Given the description of an element on the screen output the (x, y) to click on. 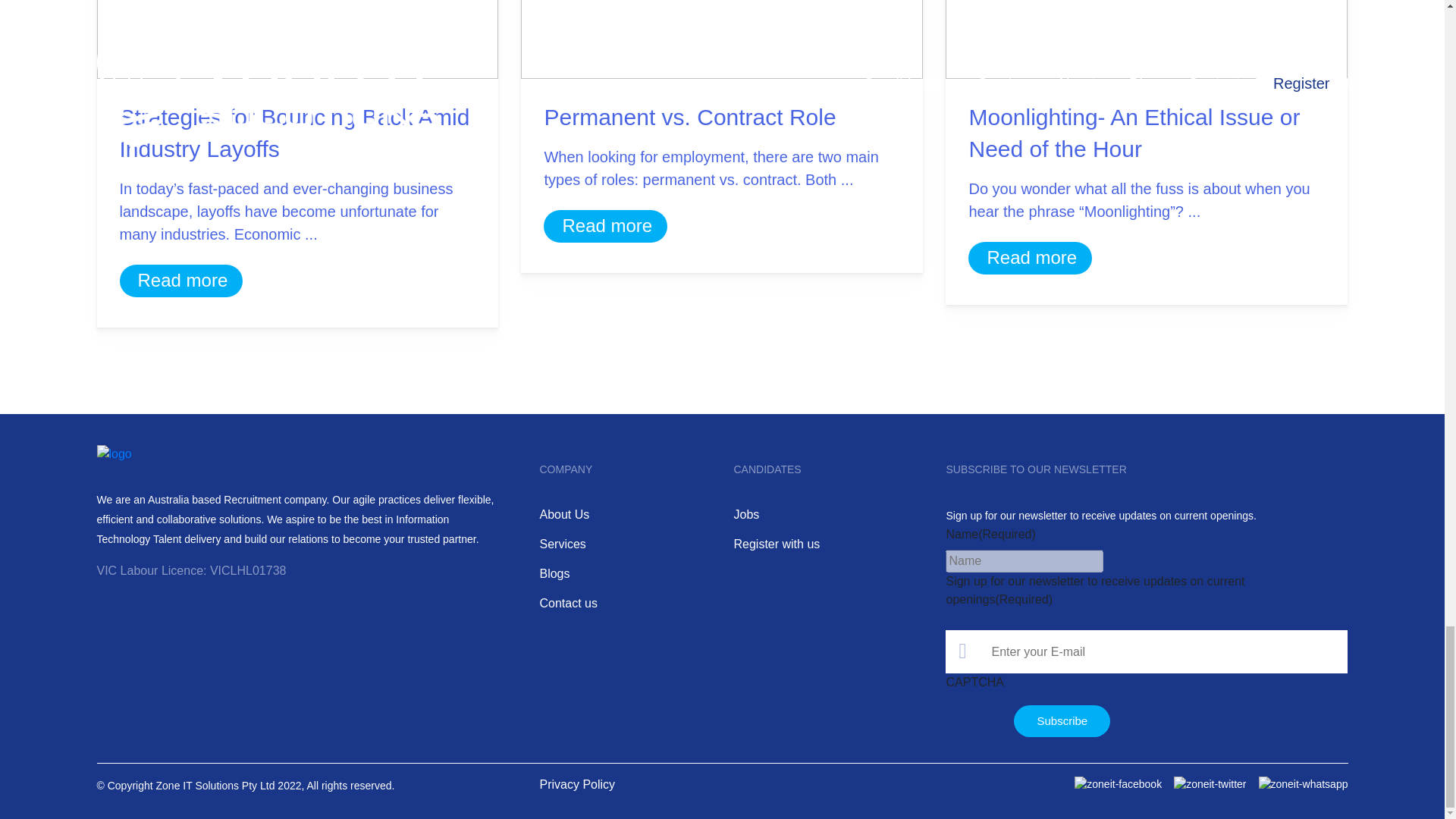
Read more (183, 280)
Read more (1032, 257)
About Us (563, 516)
Services (561, 545)
Jobs (745, 516)
Read more (607, 225)
Contact us (567, 604)
Subscribe (1061, 721)
Blogs (553, 575)
